Given the description of an element on the screen output the (x, y) to click on. 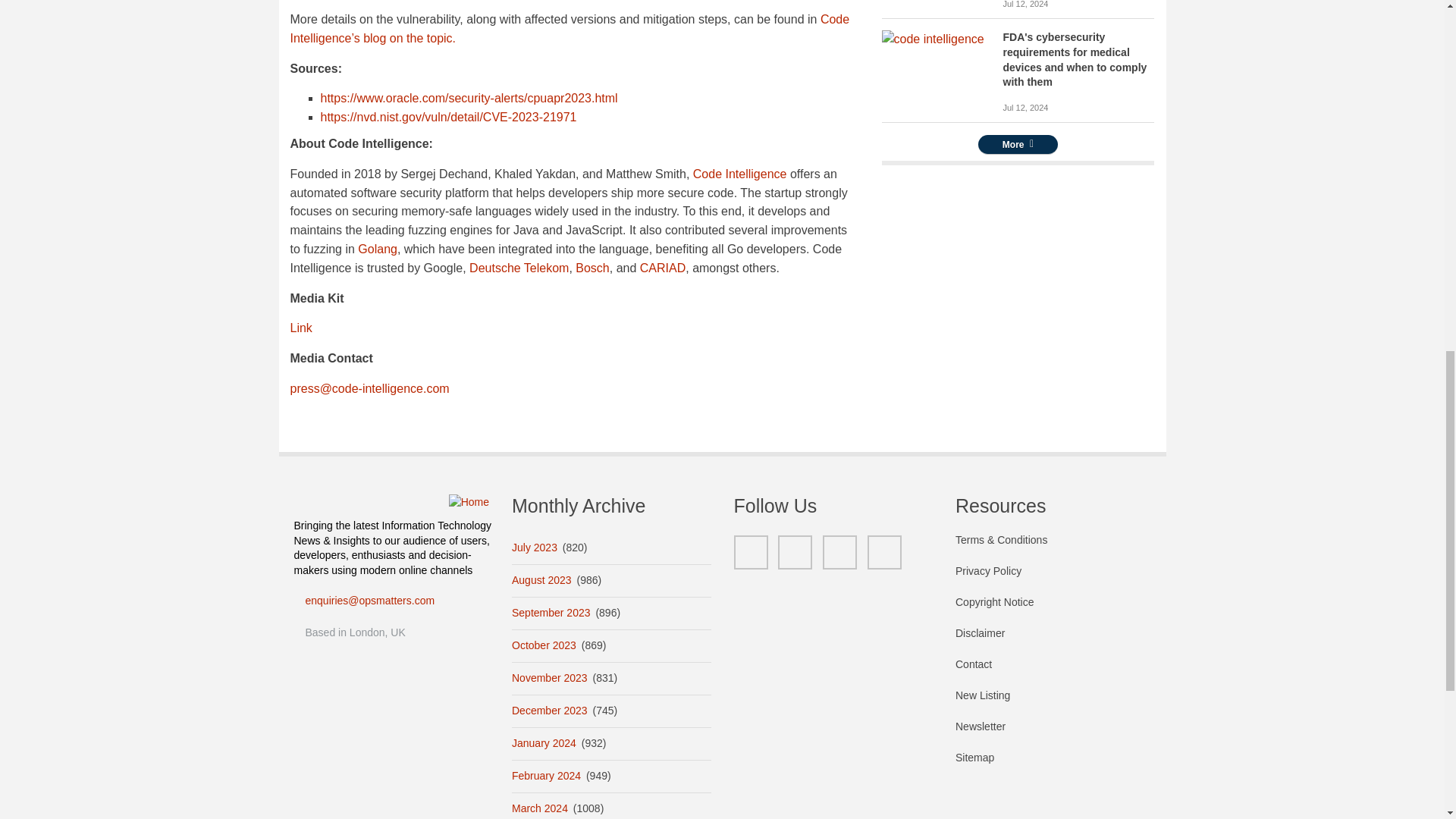
code intelligence (932, 39)
Home (468, 501)
Subscribe to our newsletter (1054, 734)
